Given the description of an element on the screen output the (x, y) to click on. 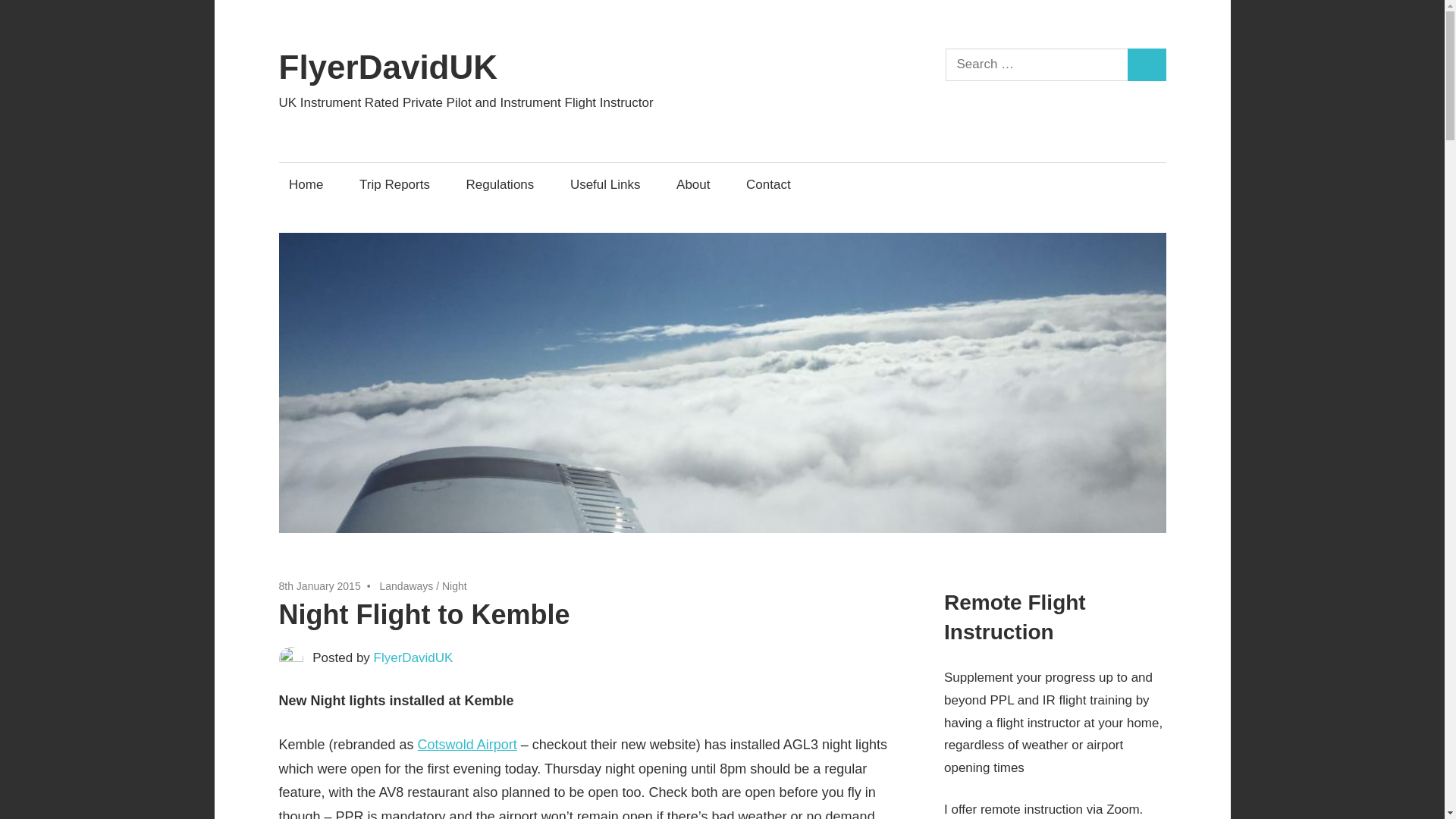
Regulations (499, 184)
8th January 2015 (320, 585)
Search for: (1036, 64)
Useful Links (604, 184)
Trip Reports (394, 184)
Home (306, 184)
FlyerDavidUK (413, 657)
Landaways (405, 585)
Night (454, 585)
Search (1146, 64)
